Given the description of an element on the screen output the (x, y) to click on. 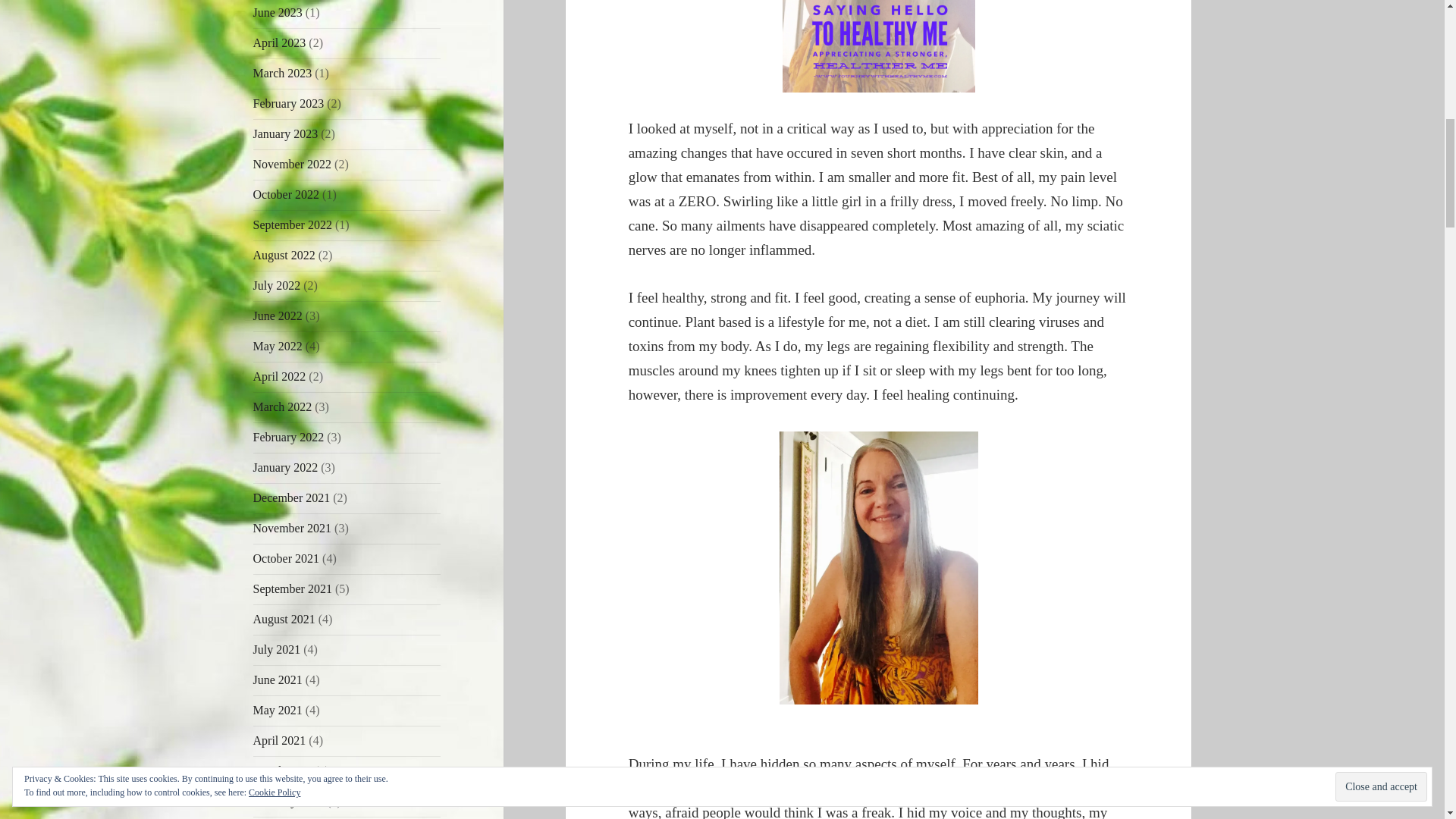
January 2022 (285, 467)
7 months months on a plant based lifestyle (879, 46)
September 2021 (292, 588)
November 2021 (292, 527)
April 2023 (279, 42)
March 2023 (283, 72)
July 2021 (277, 649)
April 2022 (279, 376)
October 2022 (286, 194)
May 2022 (277, 345)
Heathy me, 7 months on plant based lifestyle (878, 567)
February 2023 (288, 103)
June 2022 (277, 315)
November 2022 (292, 164)
October 2021 (286, 558)
